Given the description of an element on the screen output the (x, y) to click on. 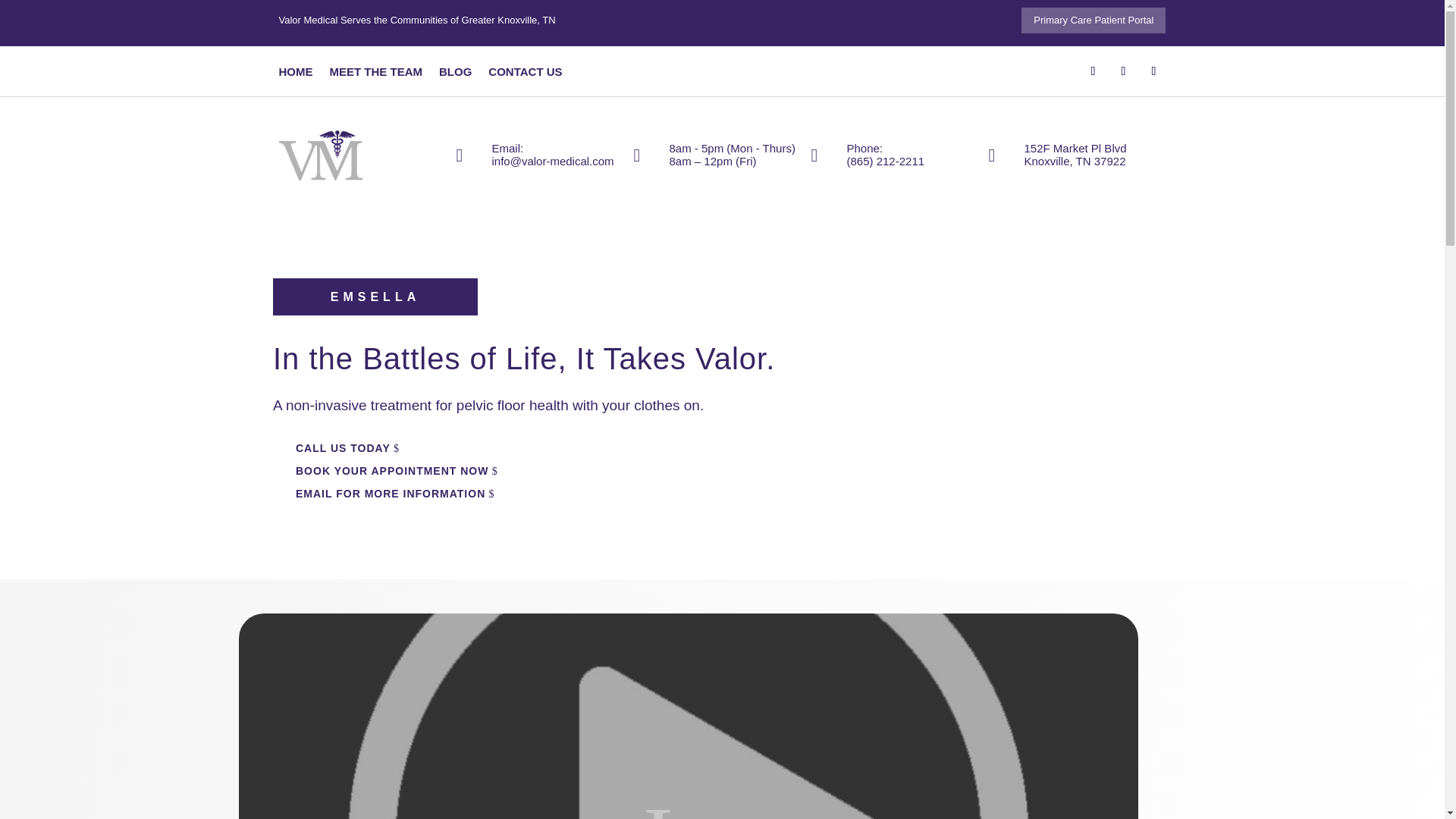
Email: (507, 147)
MEET THE TEAM (375, 74)
CALL US TODAY (343, 448)
Phone: (863, 147)
HOME (296, 74)
Primary Care Patient Portal (1094, 20)
BOOK YOUR APPOINTMENT NOW (392, 471)
Follow on Instagram (1153, 70)
Follow on Facebook (1093, 70)
BLOG (455, 74)
Follow on X (1123, 70)
CONTACT US (524, 74)
152F Market Pl Blvd (1074, 147)
VM Logo (320, 155)
EMAIL FOR MORE INFORMATION (390, 494)
